Given the description of an element on the screen output the (x, y) to click on. 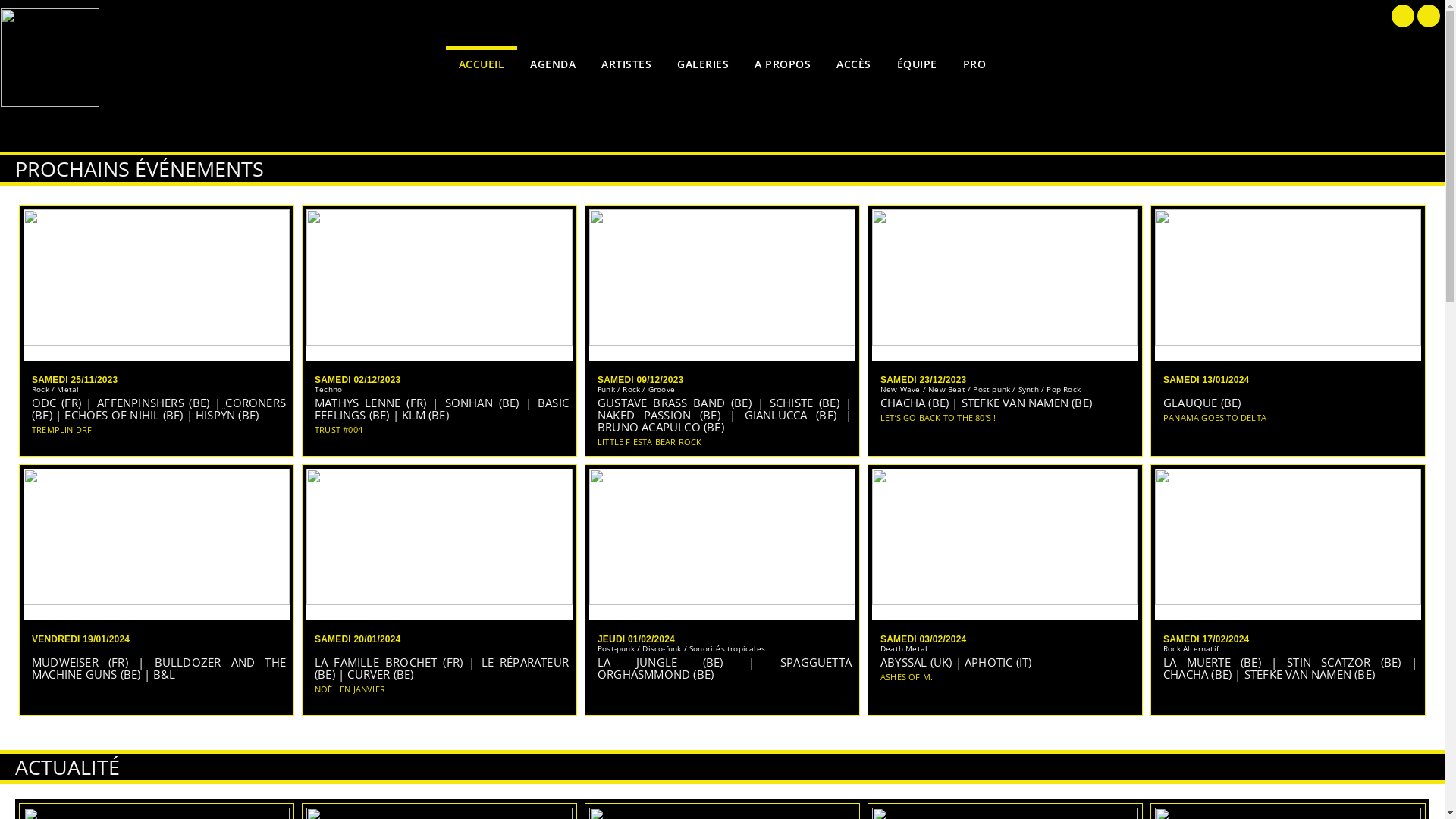
ACCUEIL Element type: text (481, 62)
GALERIES Element type: text (702, 62)
A PROPOS Element type: text (782, 62)
AGENDA Element type: text (552, 62)
ARTISTES Element type: text (626, 62)
PRO Element type: text (974, 62)
